Given the description of an element on the screen output the (x, y) to click on. 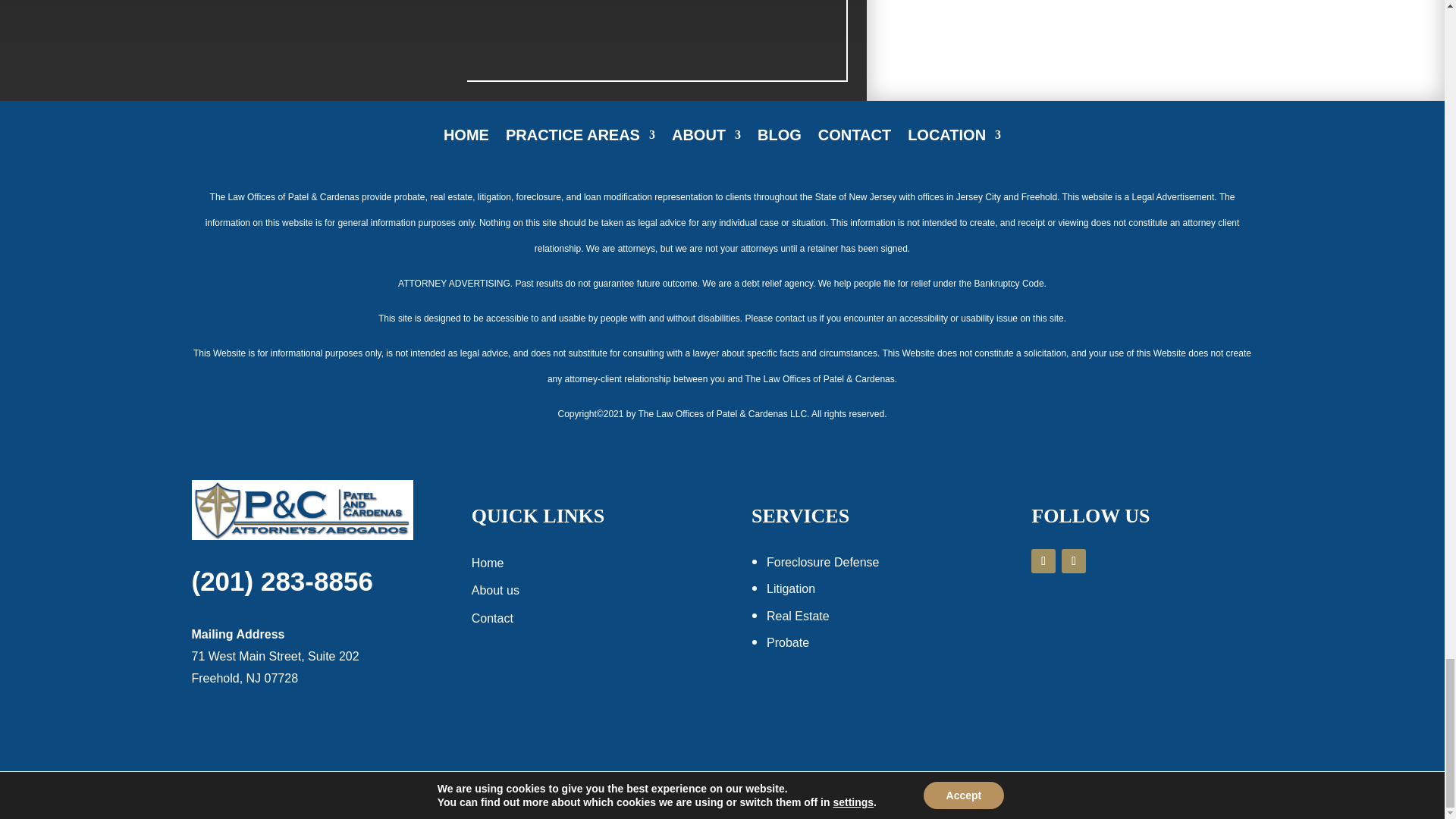
p-c-logo (301, 509)
Follow on Facebook (1042, 560)
Follow on LinkedIn (1073, 560)
